Given the description of an element on the screen output the (x, y) to click on. 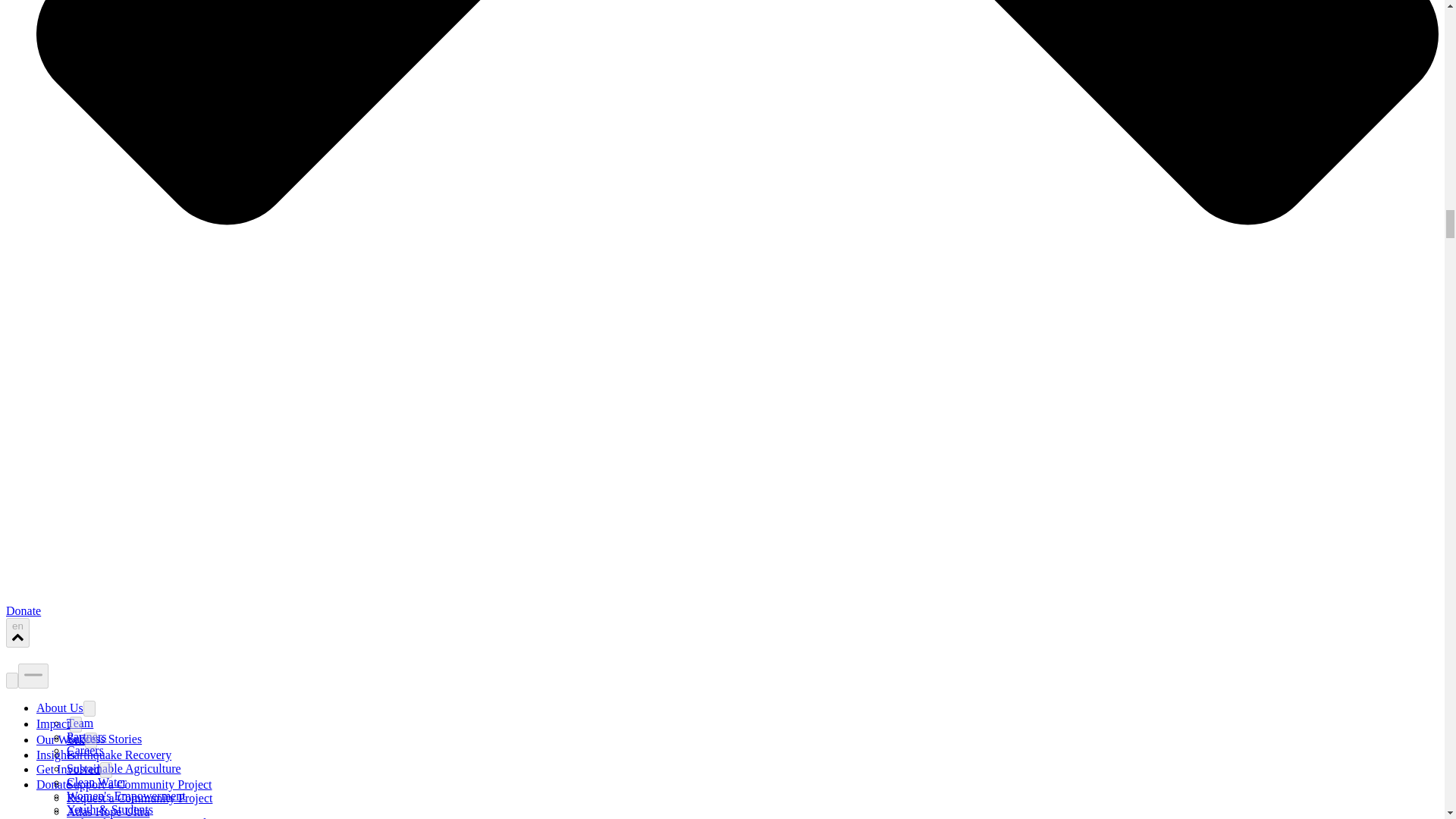
Partners (86, 736)
Team (79, 722)
About Us (59, 707)
Donate (22, 610)
Impact (52, 723)
Careers (84, 749)
